Given the description of an element on the screen output the (x, y) to click on. 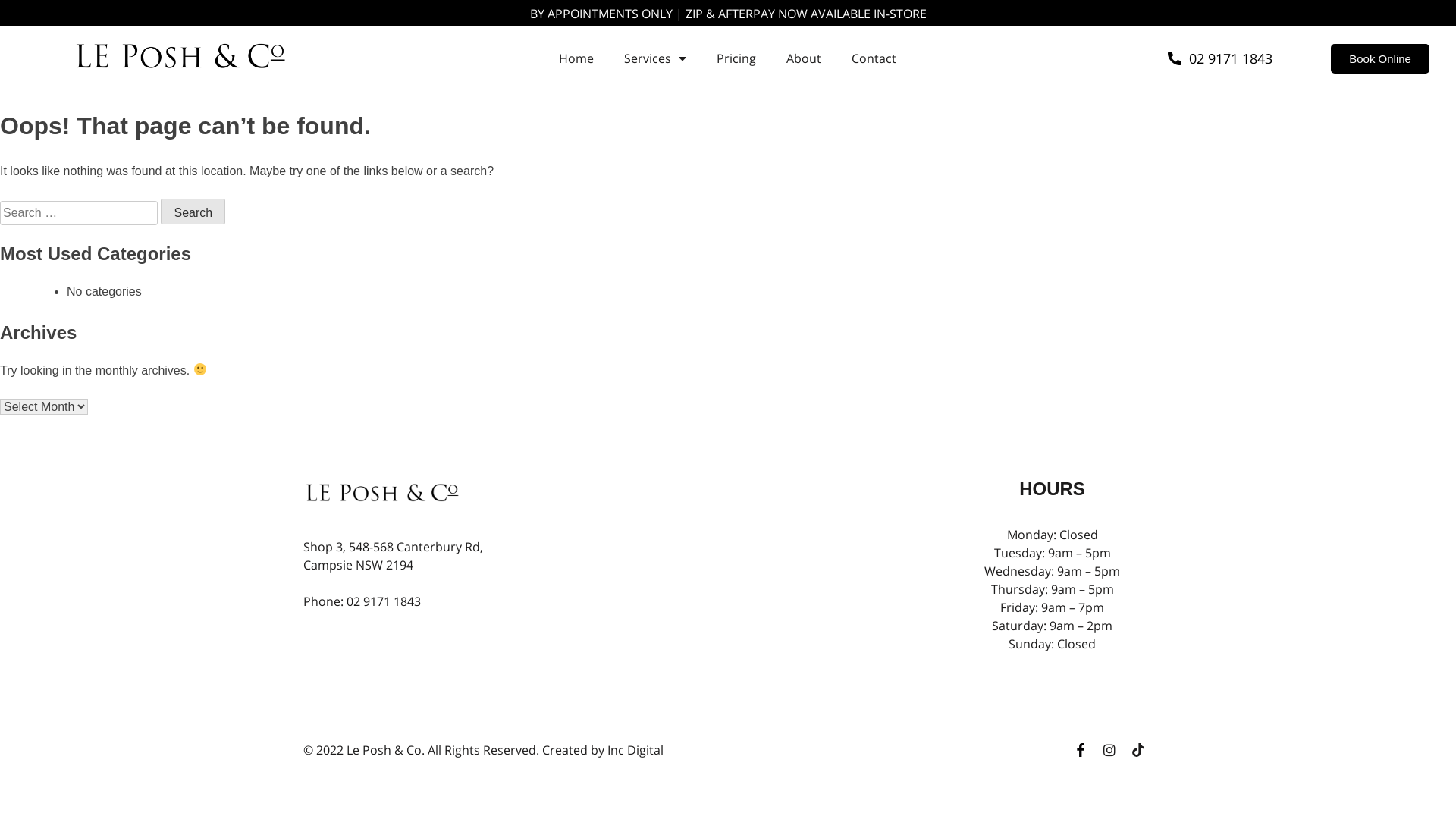
Services Element type: text (654, 57)
About Element type: text (803, 57)
02 9171 1843 Element type: text (1219, 58)
Pricing Element type: text (736, 57)
Book Online Element type: text (1379, 58)
Search Element type: text (192, 211)
Home Element type: text (575, 57)
Contact Element type: text (873, 57)
